Given the description of an element on the screen output the (x, y) to click on. 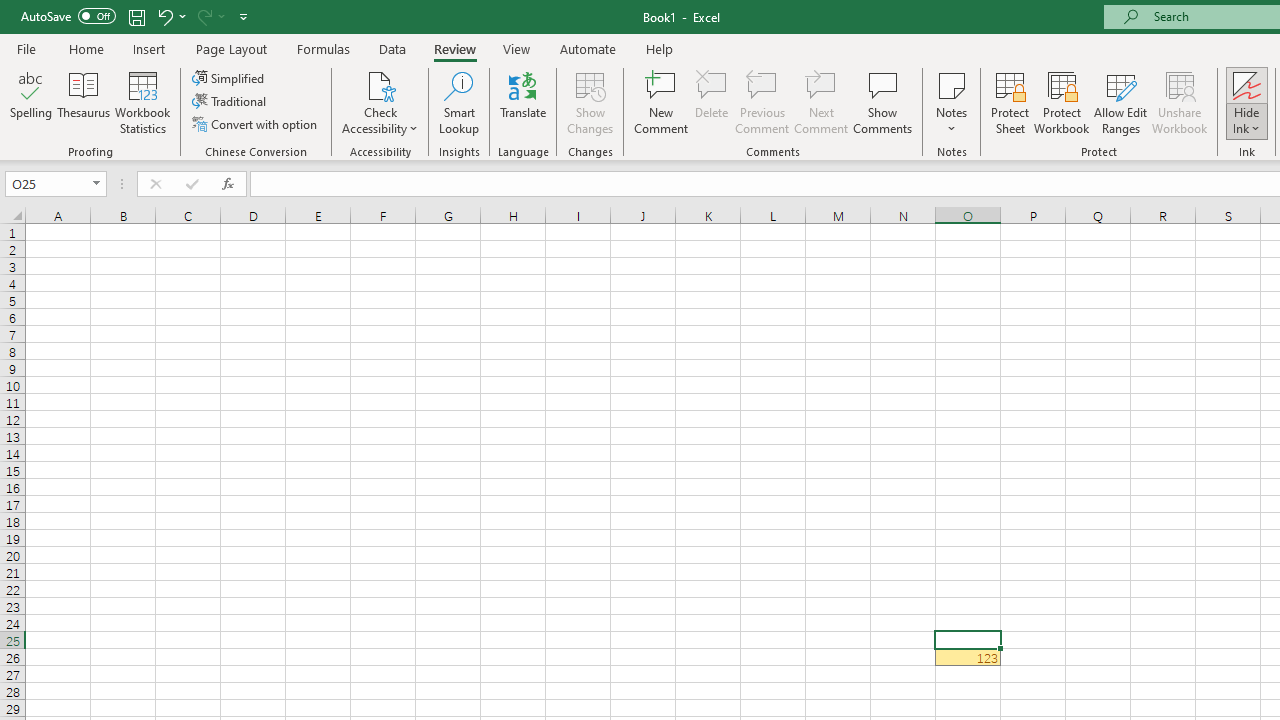
Home (86, 48)
AutoSave (68, 16)
Name Box (56, 183)
Review (454, 48)
Redo (209, 15)
Thesaurus... (83, 102)
Allow Edit Ranges (1120, 102)
More Options (1247, 121)
Workbook Statistics (142, 102)
Unshare Workbook (1179, 102)
View (517, 48)
New Comment (661, 102)
Quick Access Toolbar (136, 16)
Check Accessibility (380, 102)
Translate (523, 102)
